Given the description of an element on the screen output the (x, y) to click on. 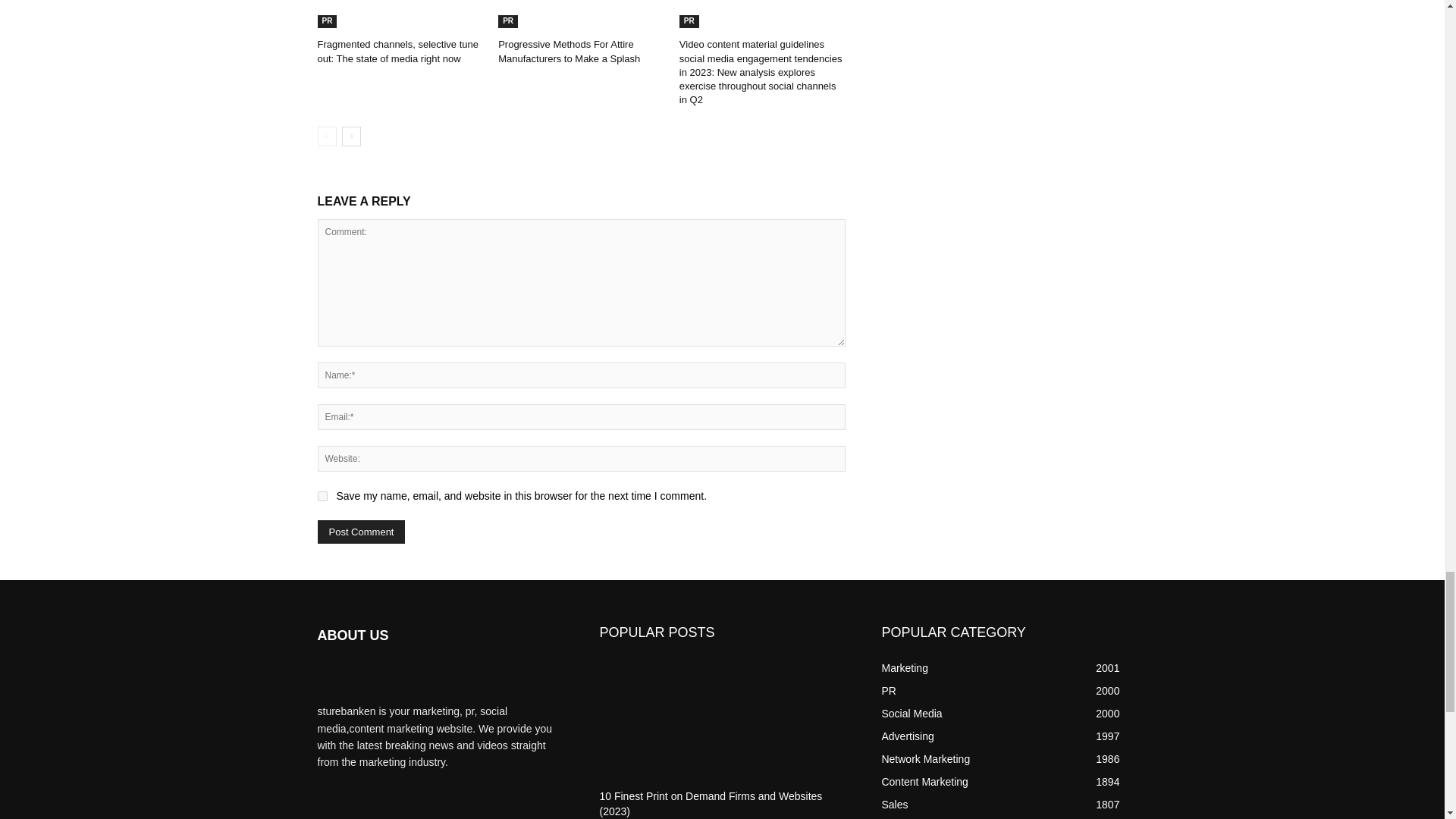
yes (321, 496)
Post Comment (360, 531)
